Given the description of an element on the screen output the (x, y) to click on. 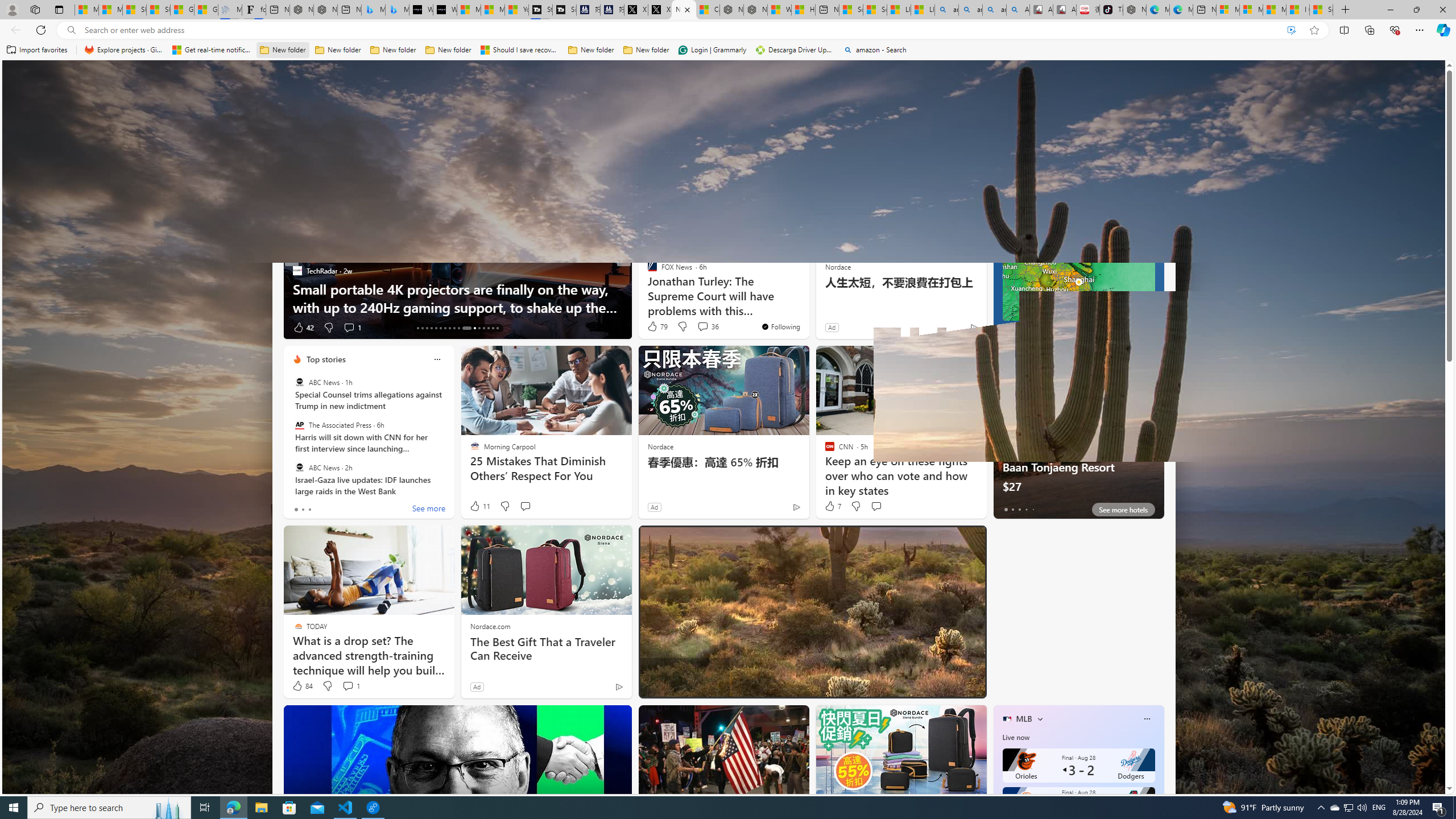
AutomationID: tab-20 (449, 328)
AutomationID: tab-15 (426, 328)
View comments 36 Comment (703, 326)
Shanghai, China weather forecast | Microsoft Weather (157, 9)
New Tab (1346, 9)
AutomationID: tab-38 (488, 328)
Feed settings (1128, 151)
Start the conversation (876, 505)
More options (1146, 718)
More AQ info nearby (1077, 311)
Start the conversation (876, 505)
Watch (619, 151)
View comments 36 Comment (707, 326)
Ad Choice (619, 686)
